Given the description of an element on the screen output the (x, y) to click on. 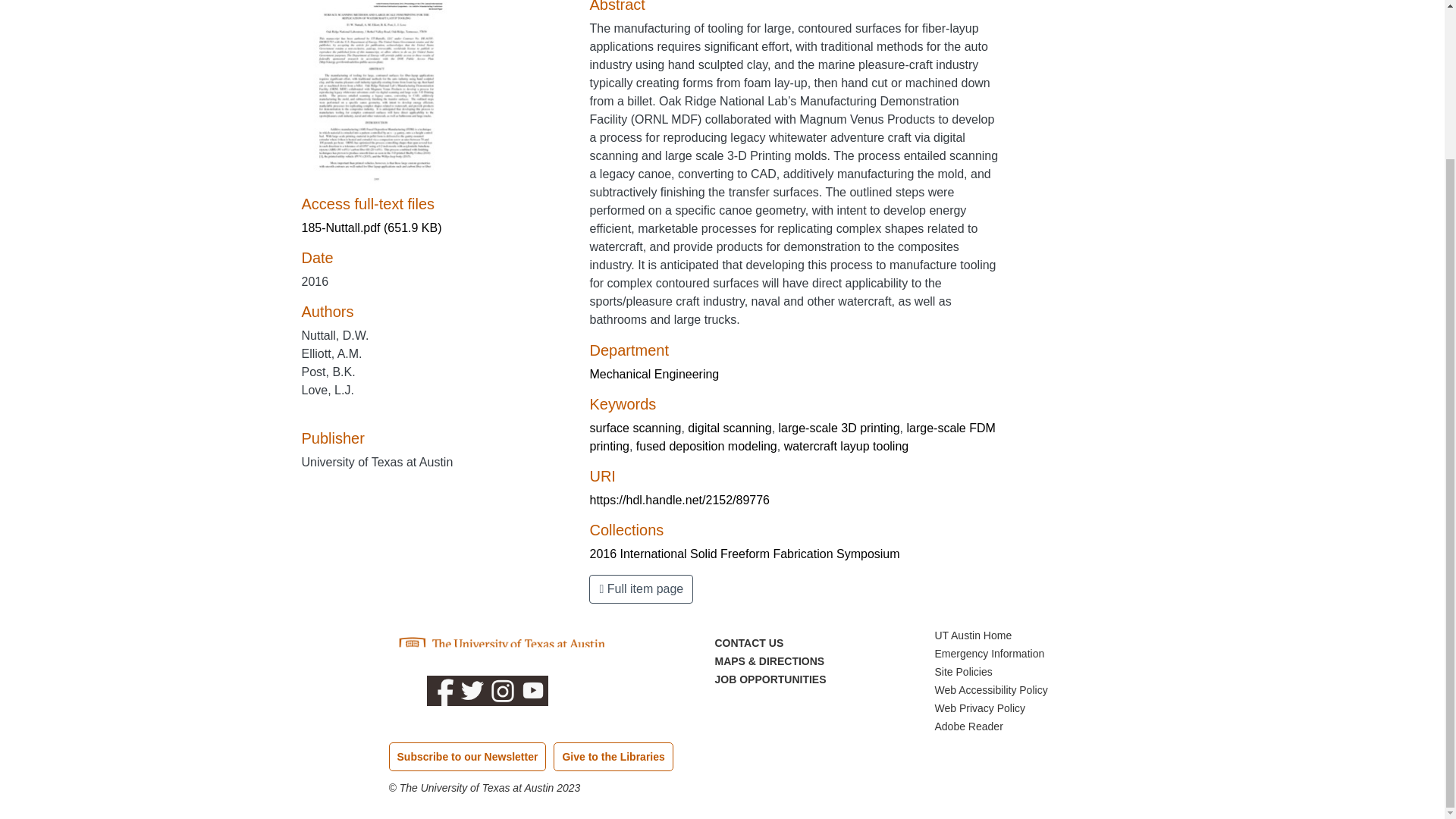
Mechanical Engineering (654, 373)
CONTACT US (748, 643)
large-scale FDM printing (791, 436)
Full item page (641, 588)
2016 International Solid Freeform Fabrication Symposium (744, 553)
watercraft layup tooling (846, 445)
large-scale 3D printing (838, 427)
digital scanning (729, 427)
fused deposition modeling (706, 445)
surface scanning (635, 427)
